Given the description of an element on the screen output the (x, y) to click on. 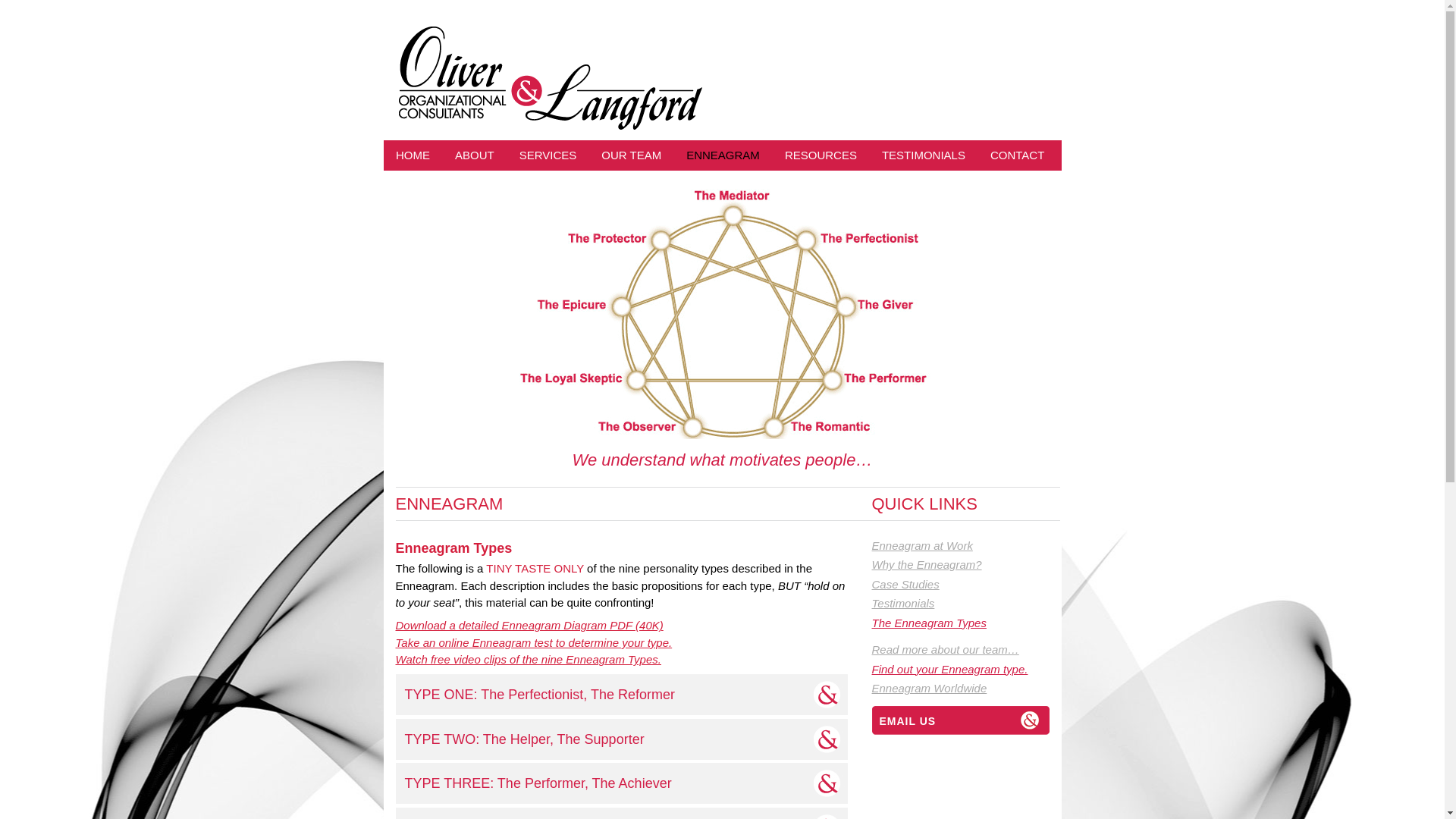
Enneagram Worldwide Element type: text (966, 688)
Take an online Enneagram test to determine your type. Element type: text (533, 642)
CONTACT Element type: text (1016, 155)
RESOURCES Element type: text (820, 155)
Case Studies Element type: text (966, 584)
Find out your Enneagram type. Element type: text (966, 669)
The Enneagram Types Element type: text (966, 623)
Enneagram at Work Element type: text (966, 545)
Why the Enneagram? Element type: text (966, 564)
Testimonials Element type: text (966, 603)
ABOUT Element type: text (474, 155)
Download a detailed Enneagram Diagram PDF (40K) Element type: text (529, 624)
TESTIMONIALS Element type: text (923, 155)
Watch free video clips of the nine Enneagram Types. Element type: text (528, 658)
HOME Element type: text (412, 155)
SERVICES Element type: text (547, 155)
ENNEAGRAM Element type: text (723, 155)
OUR TEAM Element type: text (631, 155)
EMAIL US Element type: text (966, 721)
